Given the description of an element on the screen output the (x, y) to click on. 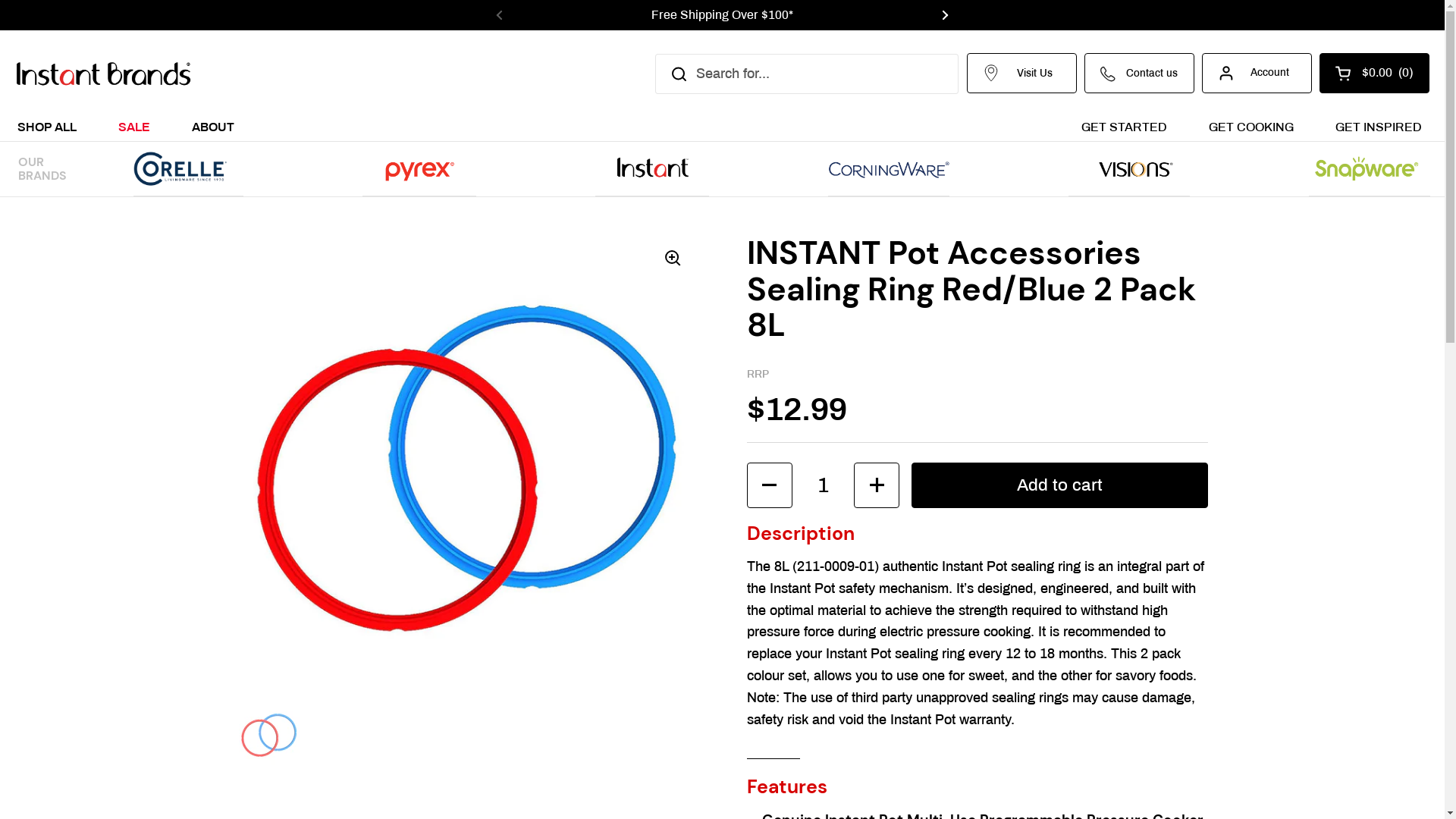
Skip to content Element type: text (0, 0)
Contact us Element type: text (1139, 73)
Free Shipping Over $100* Element type: text (722, 14)
SHOP ALL Element type: text (46, 125)
Visit us In-store or Online Element type: text (1168, 14)
ABOUT Element type: text (212, 125)
GET STARTED Element type: text (1124, 125)
Visit Us Element type: text (1021, 73)
Add to cart Element type: text (1059, 485)
GET INSPIRED Element type: text (1378, 125)
GET COOKING Element type: text (1250, 125)
Open cart
$0.00
  (
0
) Element type: text (1374, 73)
Instant Brands Element type: hover (103, 73)
SALE Element type: text (134, 125)
Account Element type: text (1256, 73)
